Given the description of an element on the screen output the (x, y) to click on. 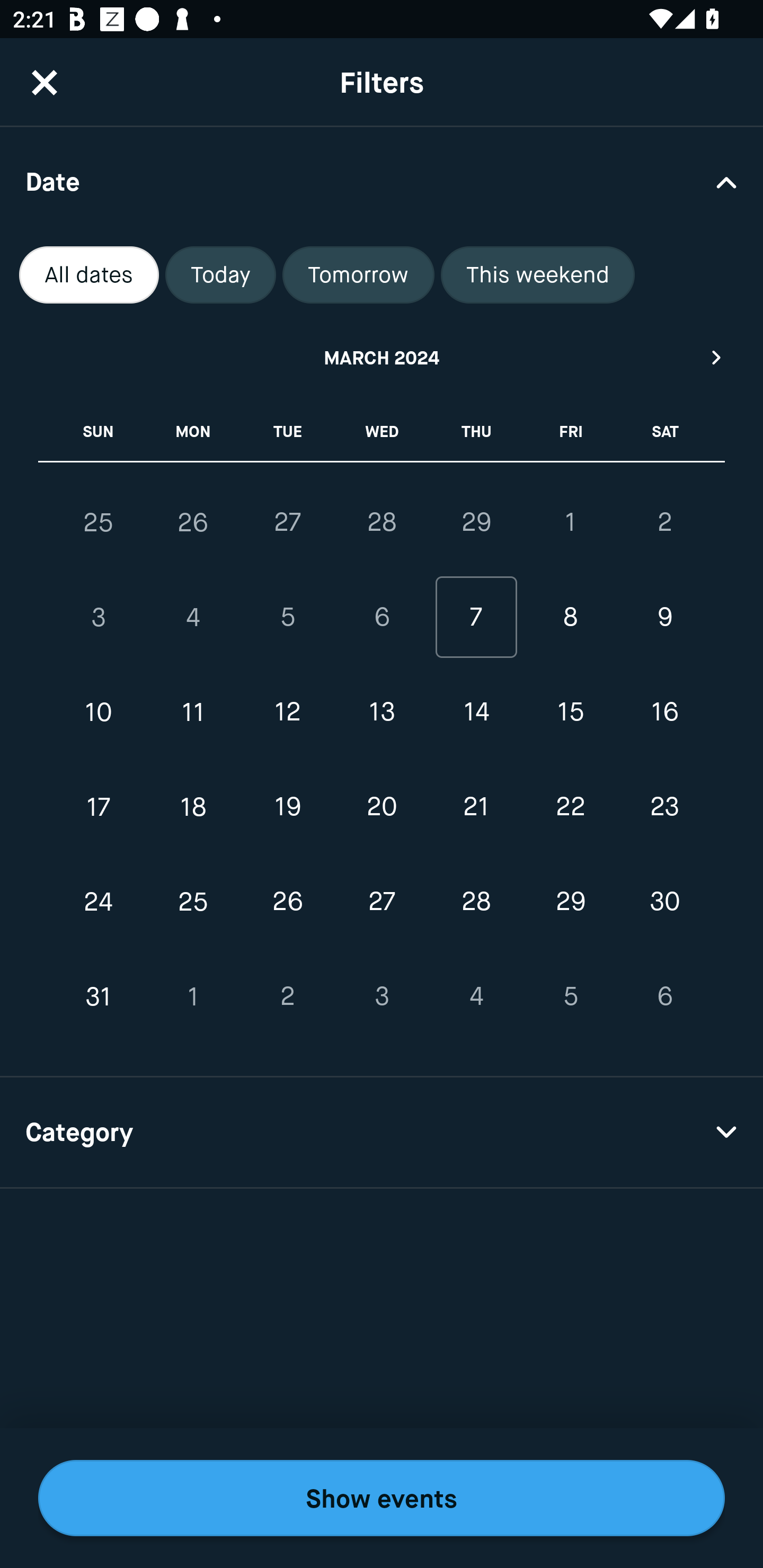
CloseButton (44, 82)
Date Drop Down Arrow (381, 181)
All dates (88, 274)
Today (220, 274)
Tomorrow (358, 274)
This weekend (537, 274)
Next (717, 357)
25 (98, 522)
26 (192, 522)
27 (287, 522)
28 (381, 522)
29 (475, 522)
1 (570, 522)
2 (664, 522)
3 (98, 617)
4 (192, 617)
5 (287, 617)
6 (381, 617)
7 (475, 617)
8 (570, 617)
9 (664, 617)
10 (98, 711)
11 (192, 711)
12 (287, 711)
13 (381, 711)
14 (475, 711)
15 (570, 711)
16 (664, 711)
17 (98, 806)
18 (192, 806)
19 (287, 806)
20 (381, 806)
21 (475, 806)
22 (570, 806)
23 (664, 806)
24 (98, 901)
25 (192, 901)
26 (287, 901)
27 (381, 901)
28 (475, 901)
29 (570, 901)
30 (664, 901)
31 (98, 996)
1 (192, 996)
2 (287, 996)
3 (381, 996)
4 (475, 996)
5 (570, 996)
6 (664, 996)
Category Drop Down Arrow (381, 1132)
Show events (381, 1497)
